Given the description of an element on the screen output the (x, y) to click on. 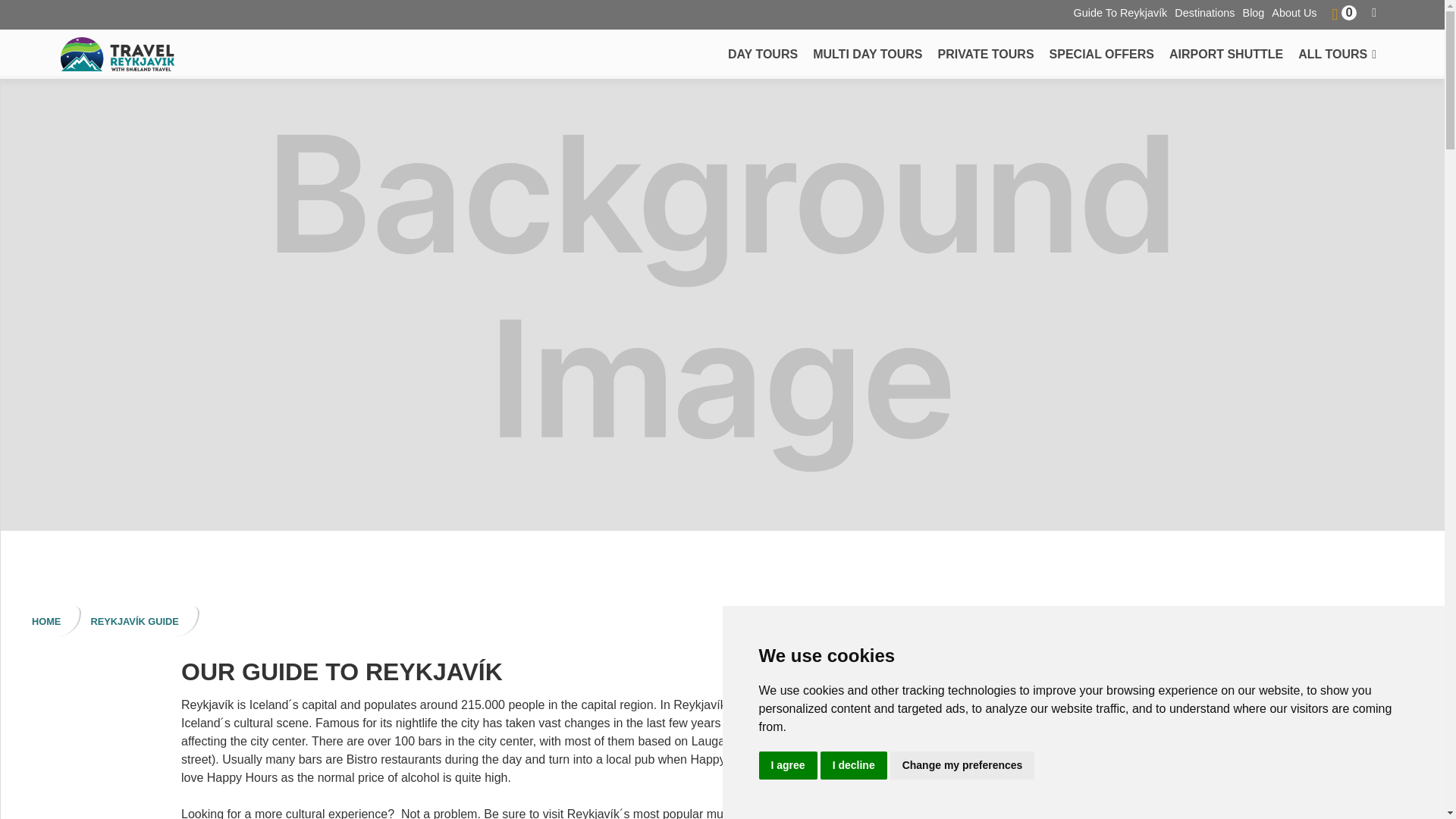
I decline (853, 765)
DAY TOURS (762, 53)
SPECIAL OFFERS (1101, 53)
Blog (1257, 12)
MULTI DAY TOURS (867, 53)
PRIVATE TOURS (985, 53)
Destinations (1207, 12)
AIRPORT SHUTTLE (1225, 53)
I agree (787, 765)
Change my preferences (962, 765)
About Us (1297, 12)
